Given the description of an element on the screen output the (x, y) to click on. 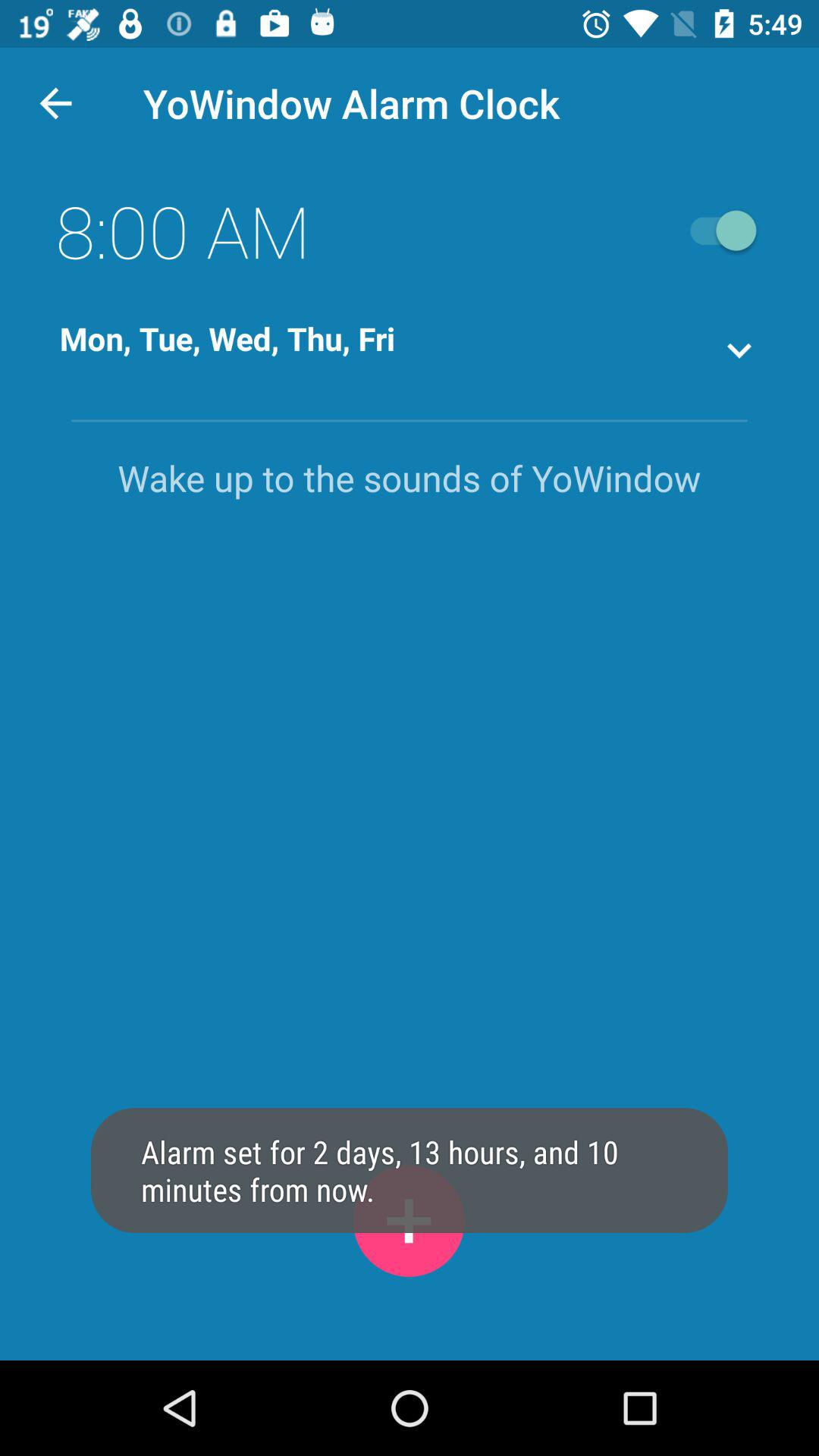
disable the alarm clock (715, 230)
